Given the description of an element on the screen output the (x, y) to click on. 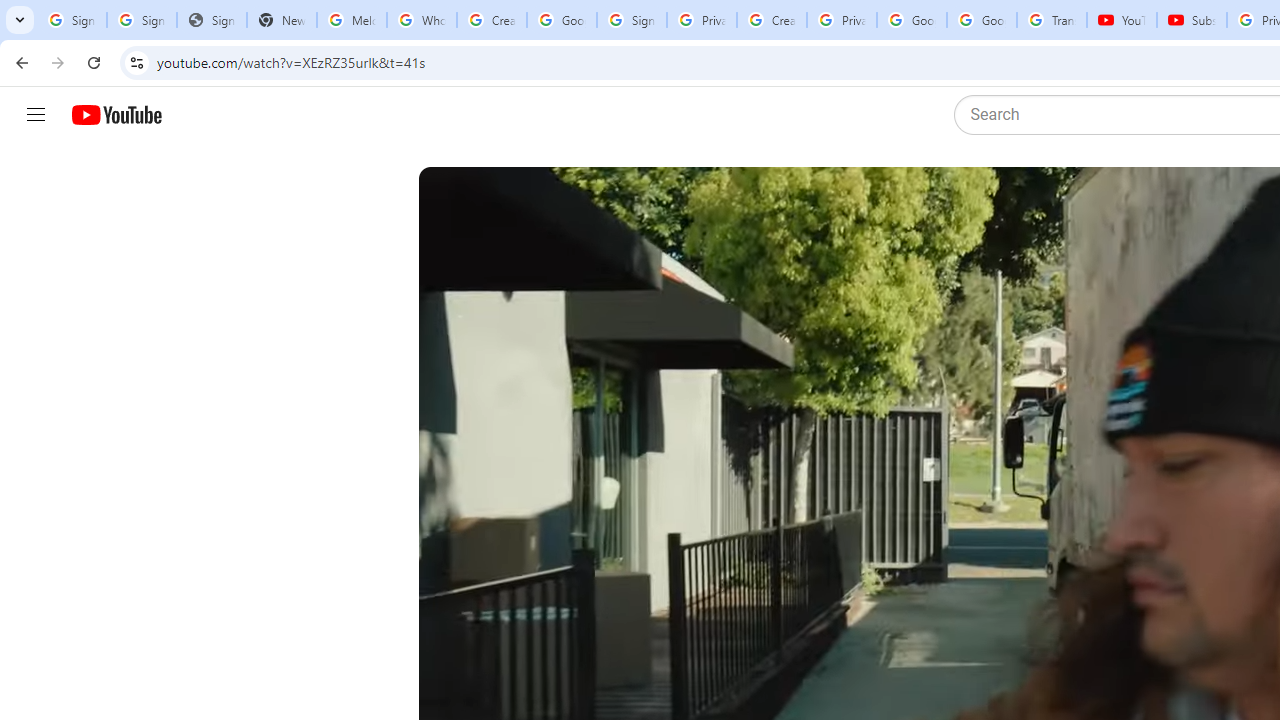
Google Account (982, 20)
Sign in - Google Accounts (631, 20)
YouTube (1121, 20)
New Tab (282, 20)
Create your Google Account (492, 20)
Sign in - Google Accounts (141, 20)
